Given the description of an element on the screen output the (x, y) to click on. 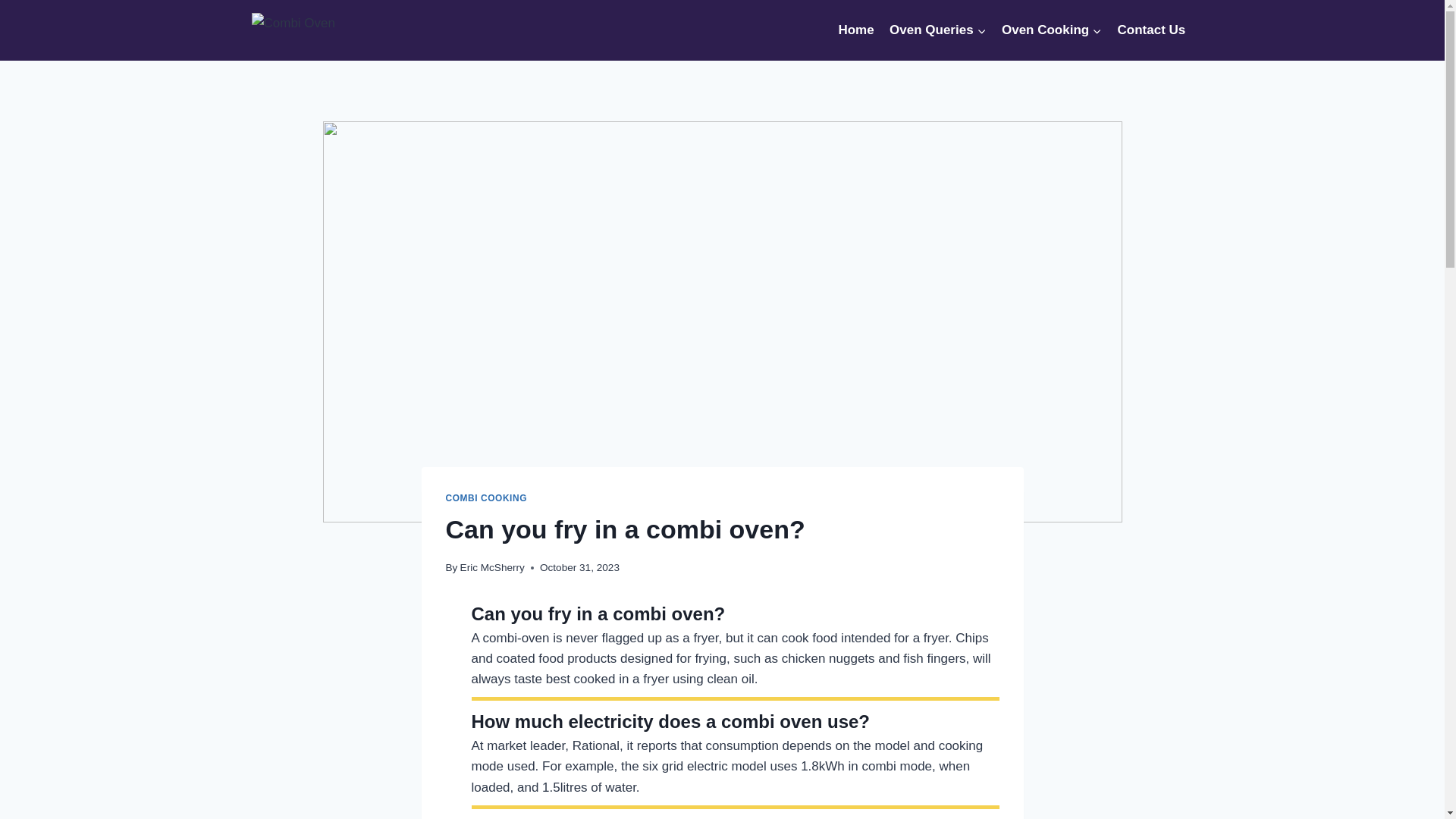
COMBI COOKING (486, 498)
Home (855, 30)
Oven Queries (938, 30)
Oven Cooking (1051, 30)
Contact Us (1150, 30)
Eric McSherry (492, 567)
